Given the description of an element on the screen output the (x, y) to click on. 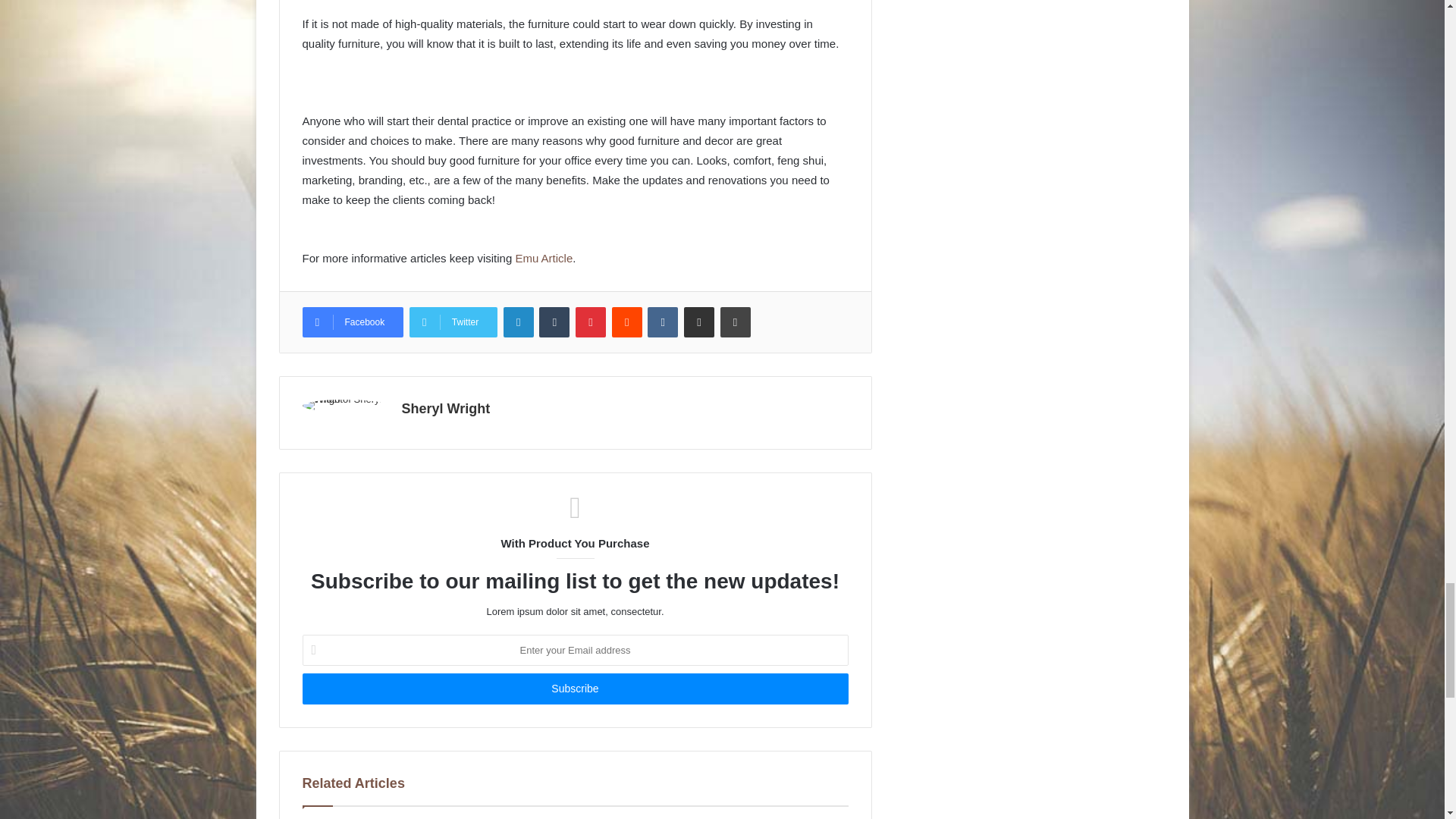
Subscribe (574, 688)
